Given the description of an element on the screen output the (x, y) to click on. 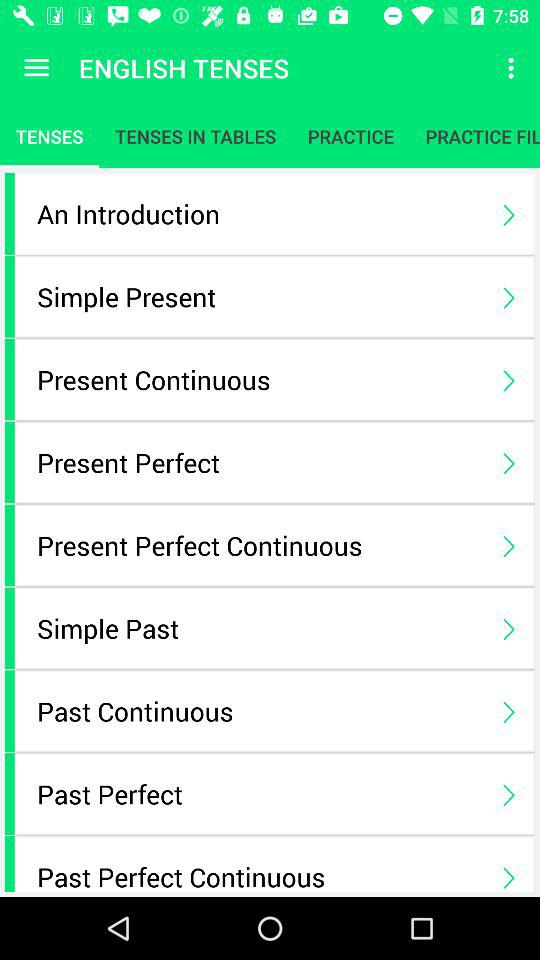
select the item below an introduction icon (259, 296)
